Given the description of an element on the screen output the (x, y) to click on. 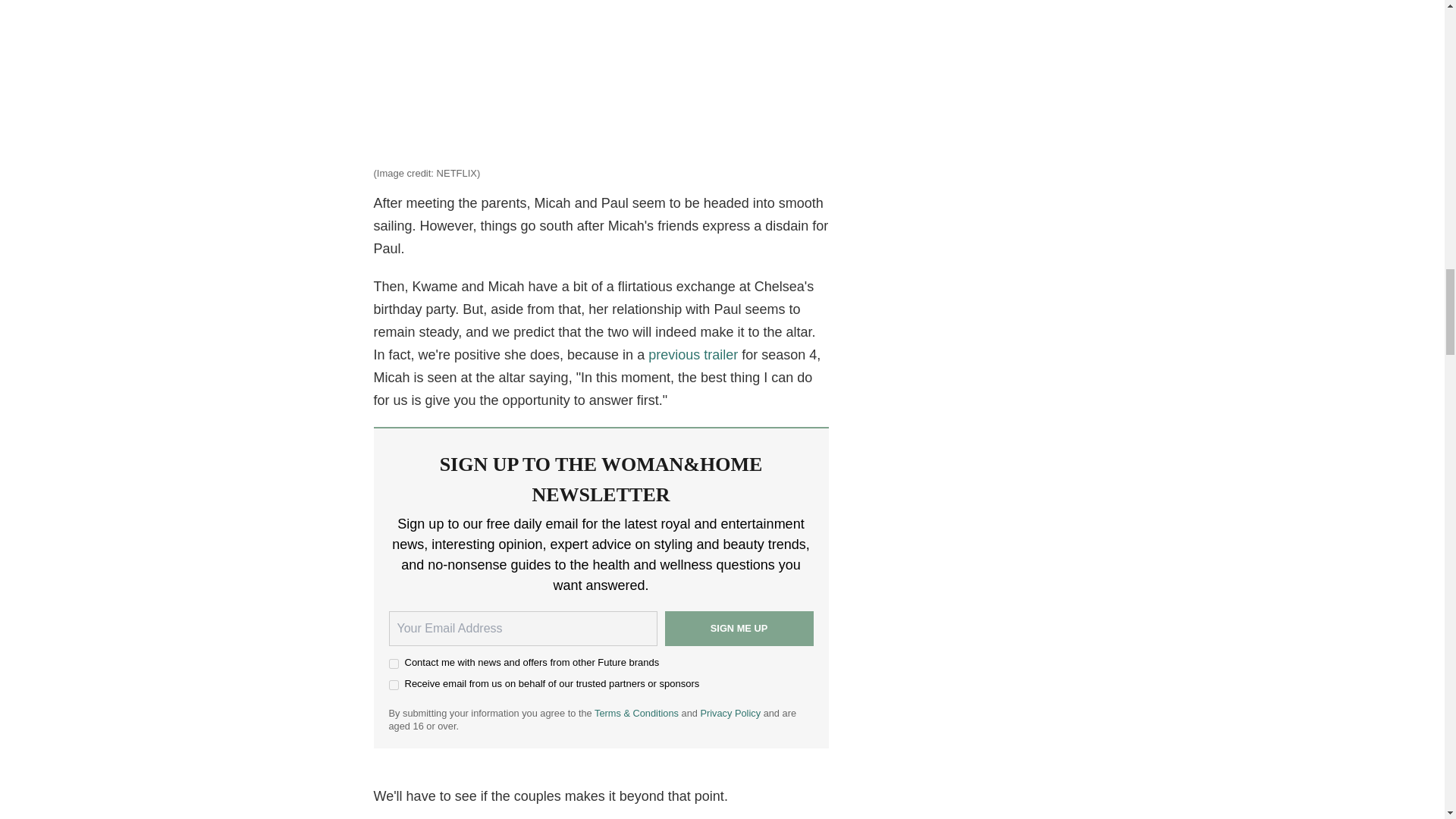
Sign me up (737, 628)
on (392, 685)
on (392, 664)
